Given the description of an element on the screen output the (x, y) to click on. 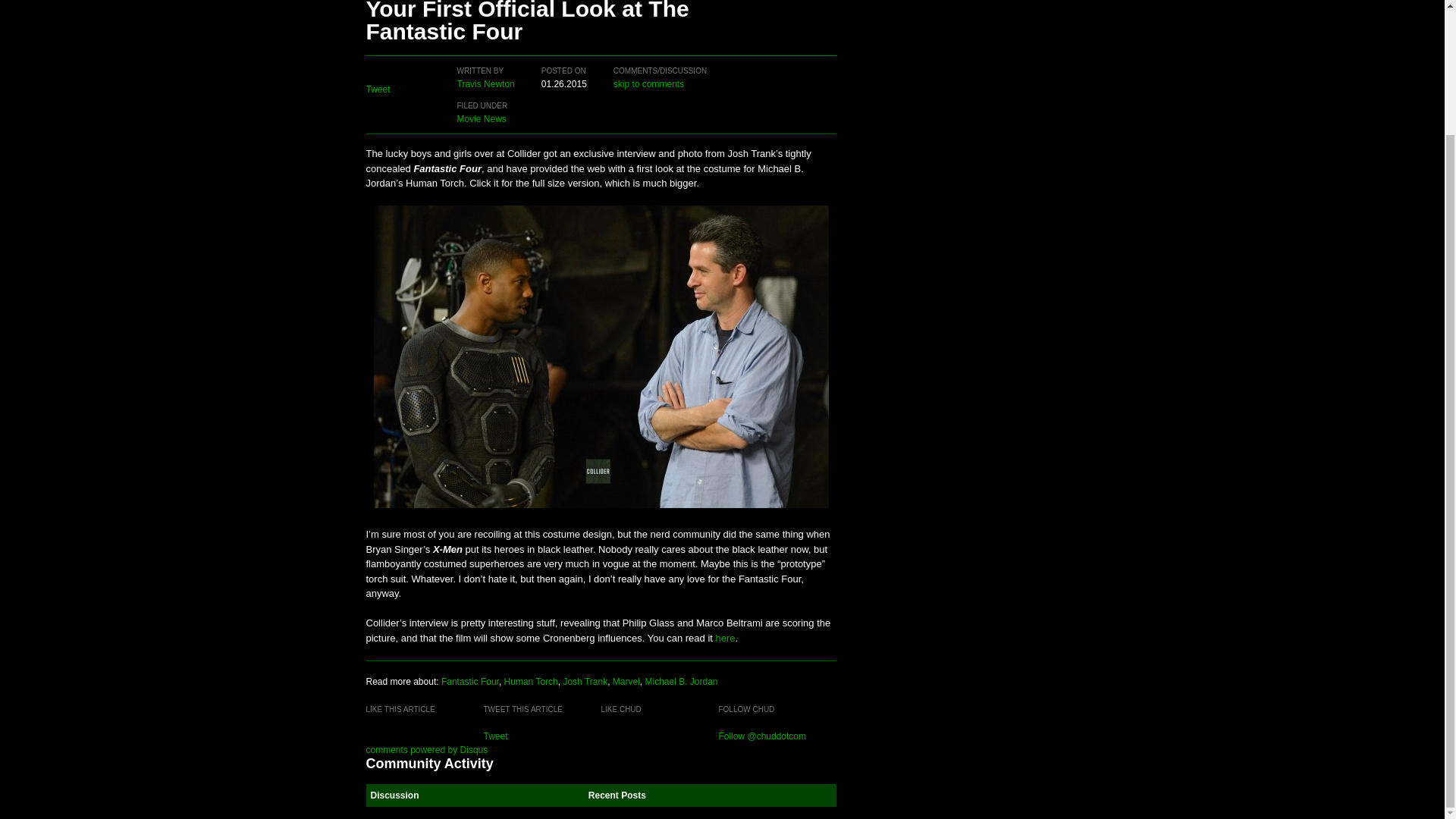
Fantastic Four (470, 681)
here (725, 637)
comments powered by Disqus (426, 749)
Movie News (481, 118)
Michael B. Jordan (681, 681)
Human Torch (530, 681)
Tweet (494, 736)
Travis Newton (485, 83)
Posts by Travis Newton (485, 83)
skip to comments (648, 83)
Josh Trank (584, 681)
Tweet (377, 89)
Marvel (626, 681)
